Given the description of an element on the screen output the (x, y) to click on. 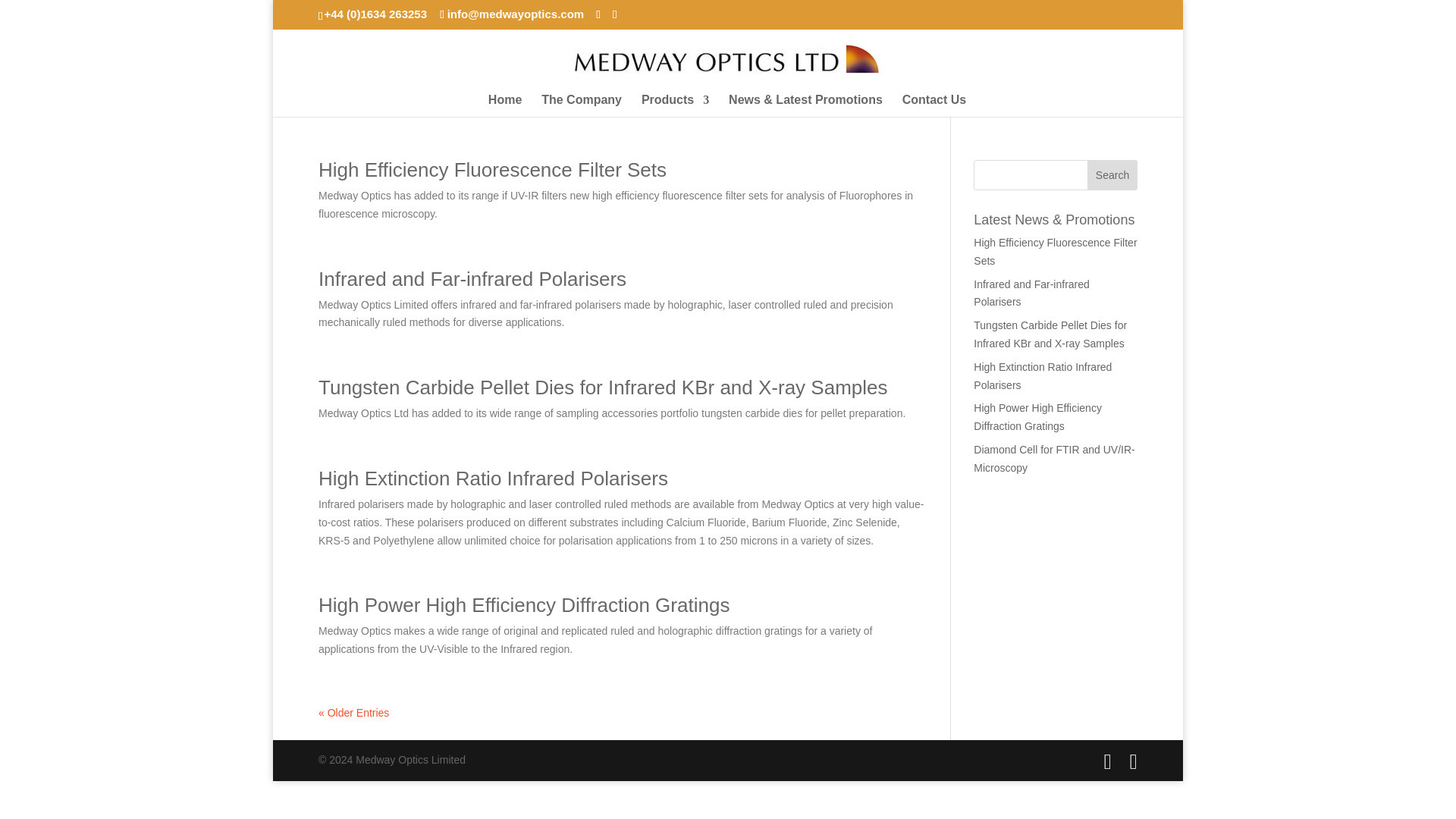
Contact Us (934, 105)
The Company (581, 105)
Search (1112, 174)
Products (675, 105)
Home (504, 105)
